Given the description of an element on the screen output the (x, y) to click on. 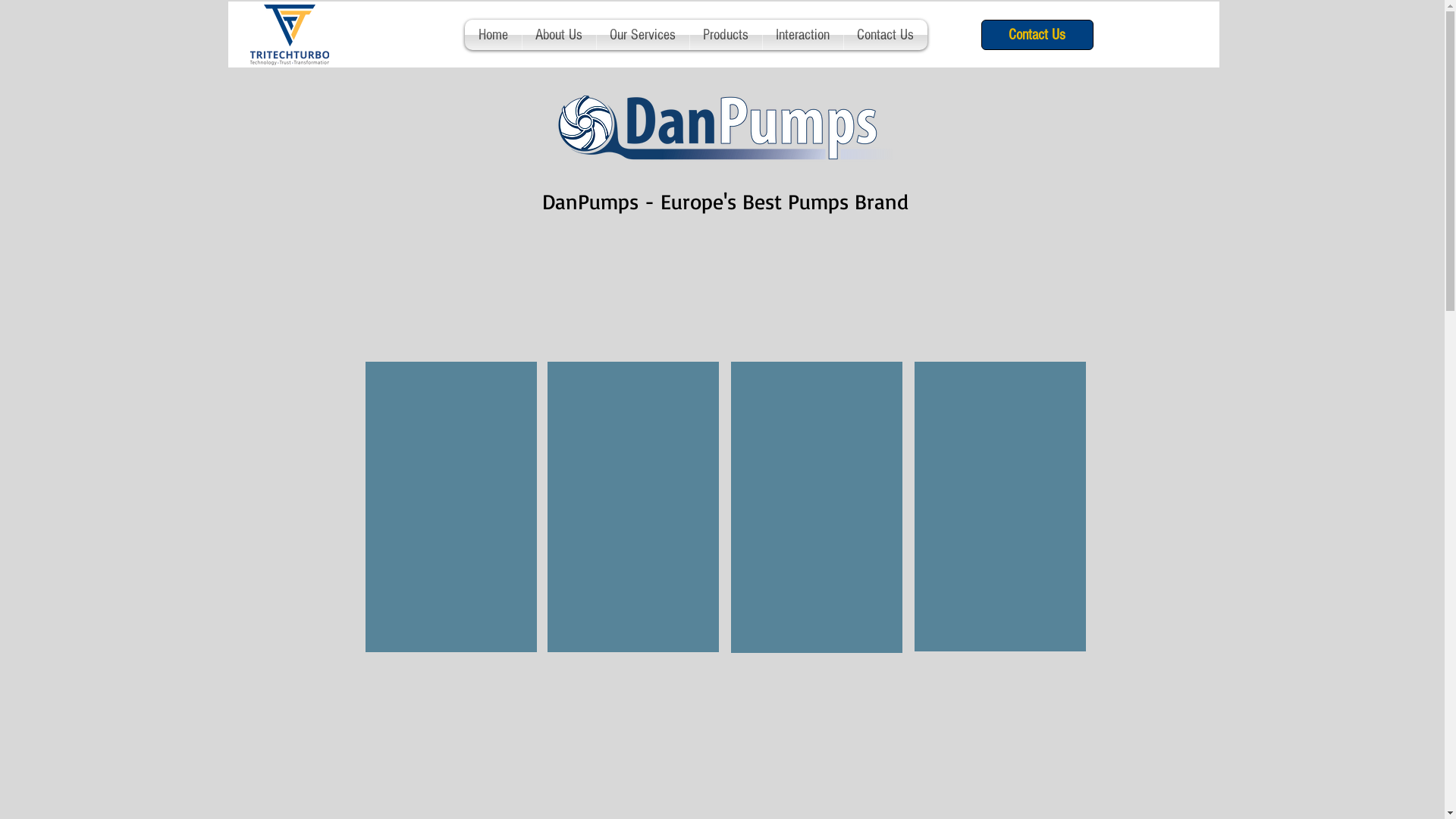
About Us Element type: text (558, 34)
Home Element type: text (492, 34)
Contact Us Element type: text (1037, 34)
Our Services Element type: text (642, 34)
Contact Us Element type: text (884, 34)
